Given the description of an element on the screen output the (x, y) to click on. 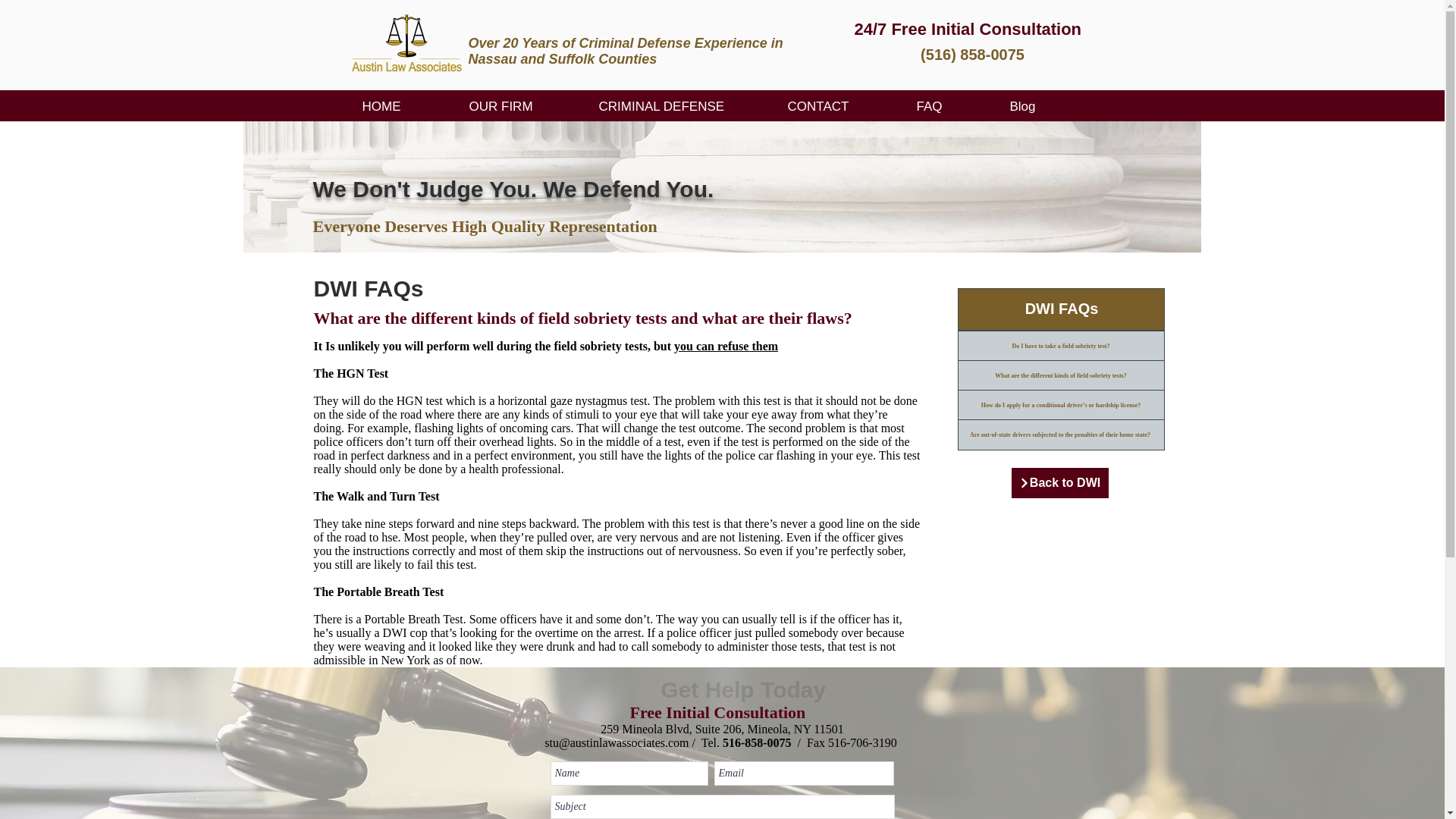
We Don't Judge You. We Defend You. (513, 188)
Blog (1045, 106)
you can refuse them (725, 345)
Do I have to take a field sobriety test? (1060, 346)
CONTACT (840, 106)
FAQ (951, 106)
Back to DWI (1059, 482)
OUR FIRM (523, 106)
516-858-0075 (757, 742)
